Given the description of an element on the screen output the (x, y) to click on. 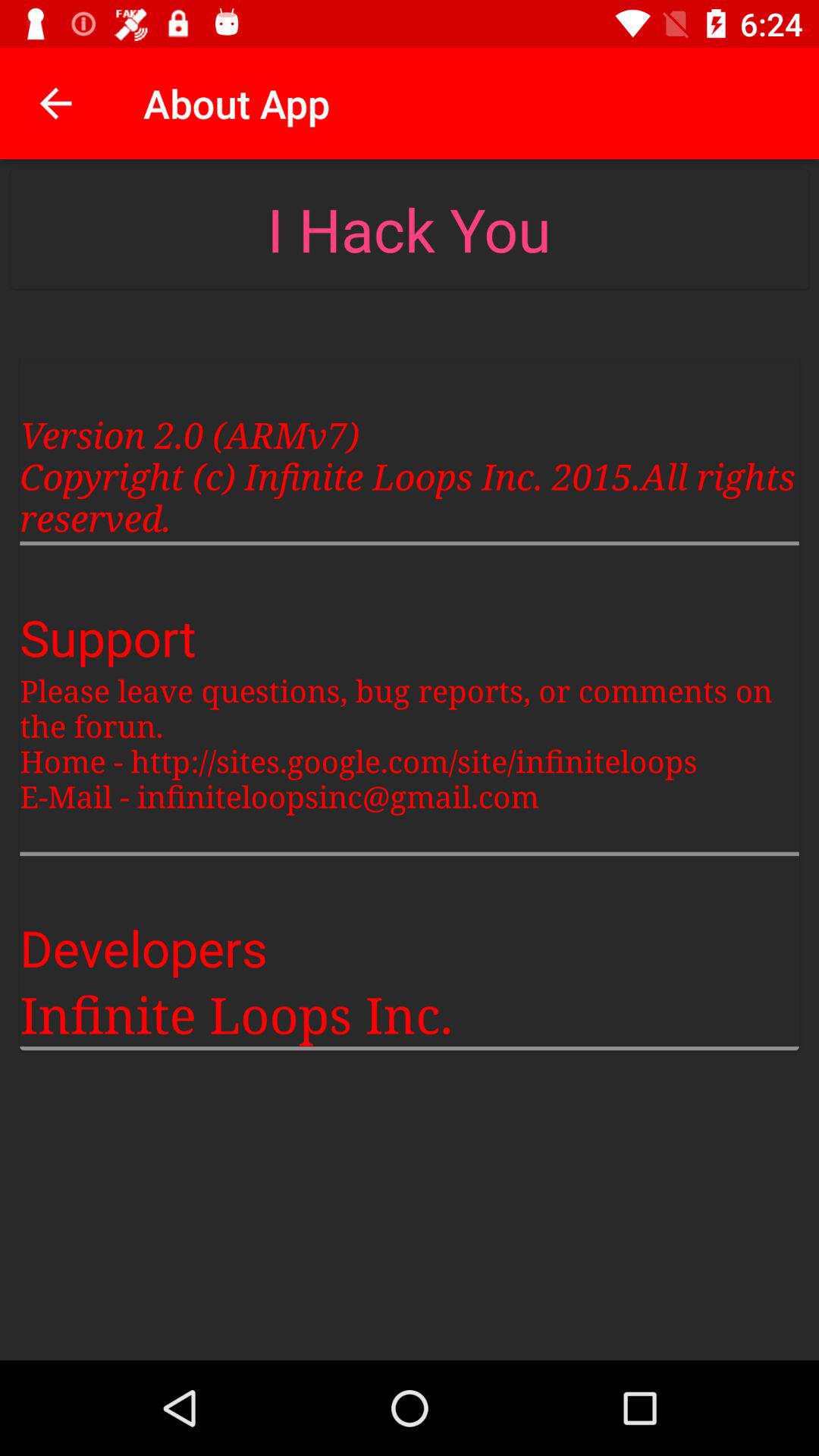
select the icon above the version 2 0 item (55, 103)
